Given the description of an element on the screen output the (x, y) to click on. 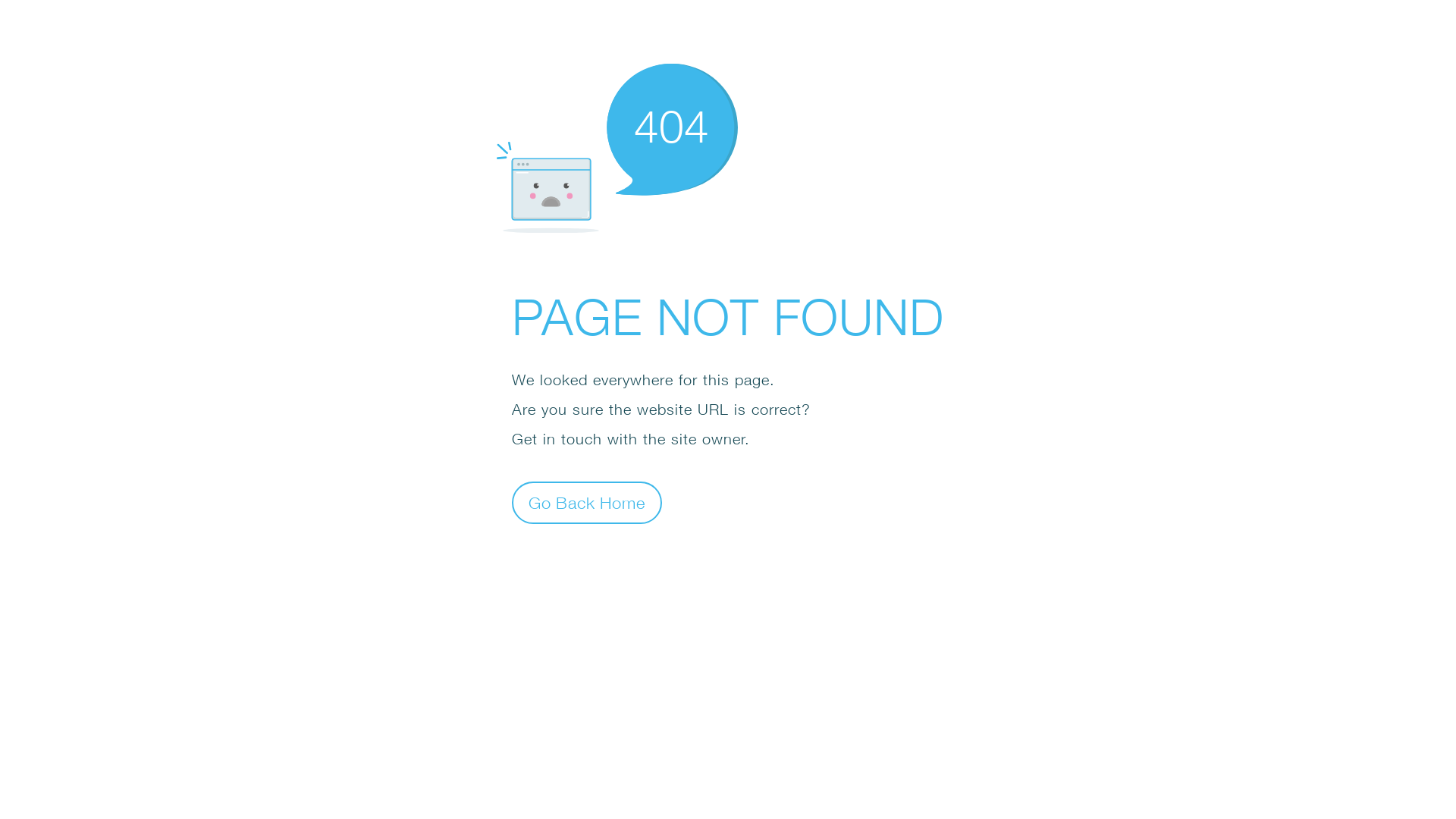
Go Back Home Element type: text (586, 502)
